Given the description of an element on the screen output the (x, y) to click on. 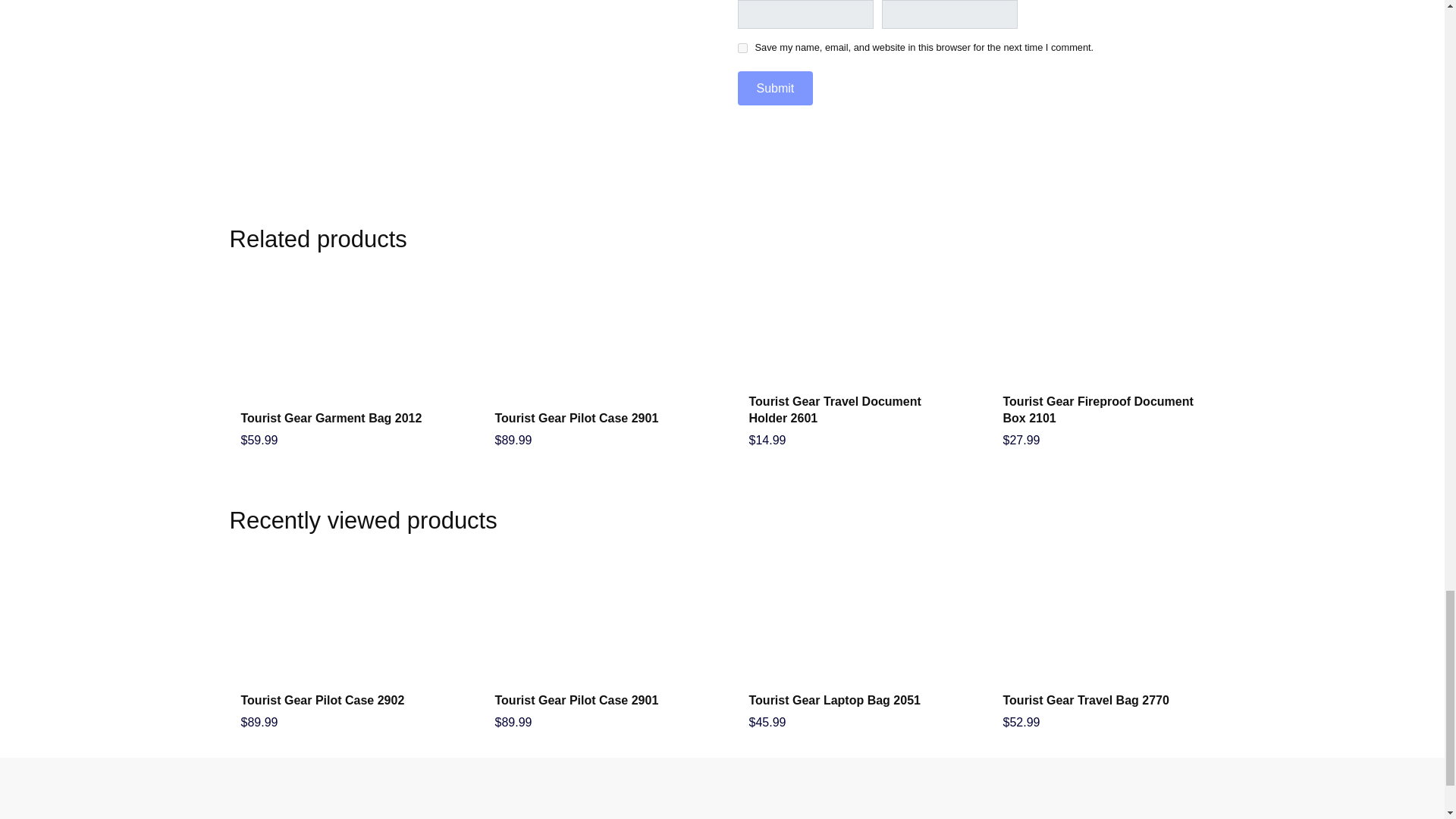
Tourist Gear Pilot Case 2902 (322, 699)
yes (741, 48)
Tourist Gear Garment Bag 2012 (331, 418)
Tourist Gear Travel Document Holder 2601 (835, 409)
Submit (774, 88)
Tourist Gear Pilot Case 2901 (576, 418)
Tourist Gear Pilot Case 2901 (576, 699)
Submit (774, 88)
Tourist Gear Fireproof Document Box 2101 (1097, 409)
